Given the description of an element on the screen output the (x, y) to click on. 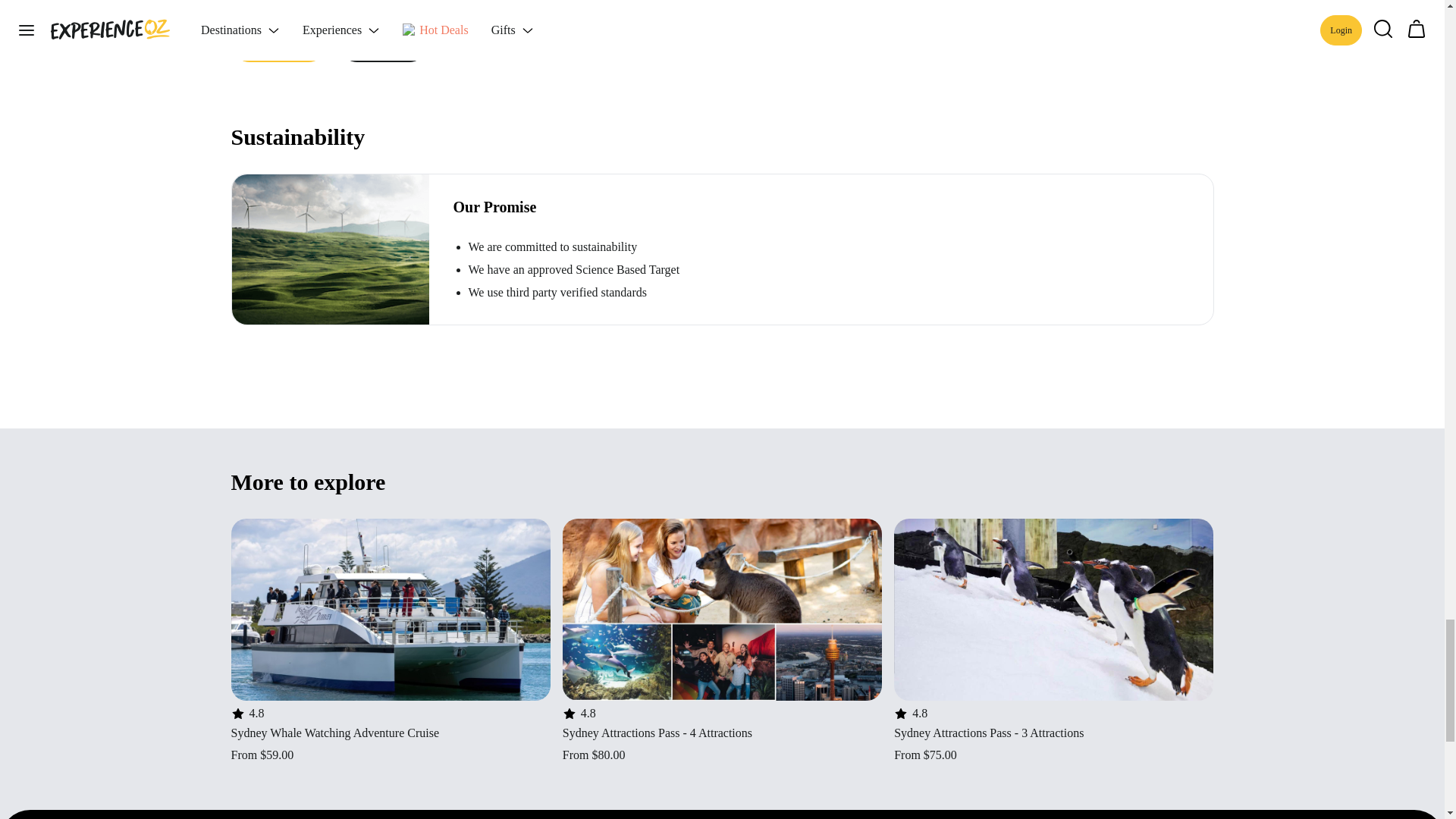
Live chat (383, 43)
Contact us (278, 43)
